Given the description of an element on the screen output the (x, y) to click on. 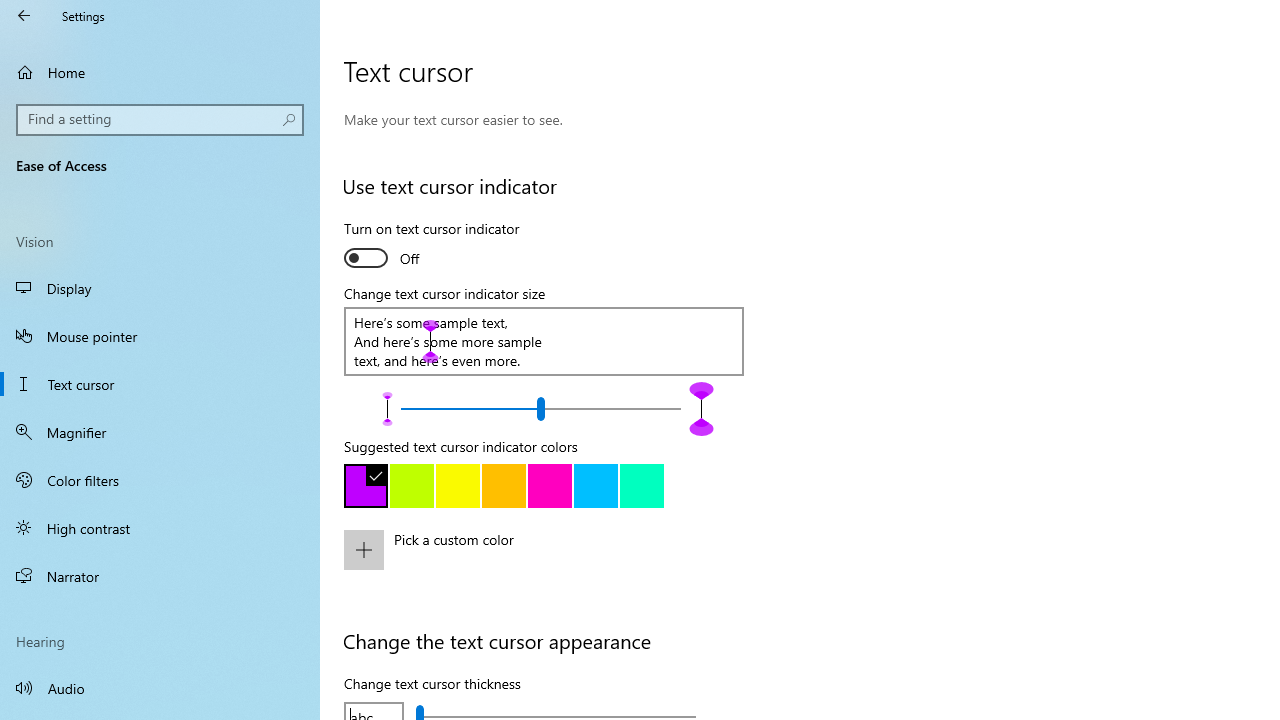
Turn on text cursor indicator (431, 246)
Narrator (160, 575)
Mouse pointer (160, 335)
Yellow (458, 485)
Change text cursor indicator size (540, 408)
Display (160, 287)
Pick a custom color (563, 563)
Audio (160, 687)
Gold (504, 485)
Search box, Find a setting (160, 119)
Color filters (160, 479)
Magnifier (160, 431)
High contrast (160, 527)
Text cursor (160, 384)
